Given the description of an element on the screen output the (x, y) to click on. 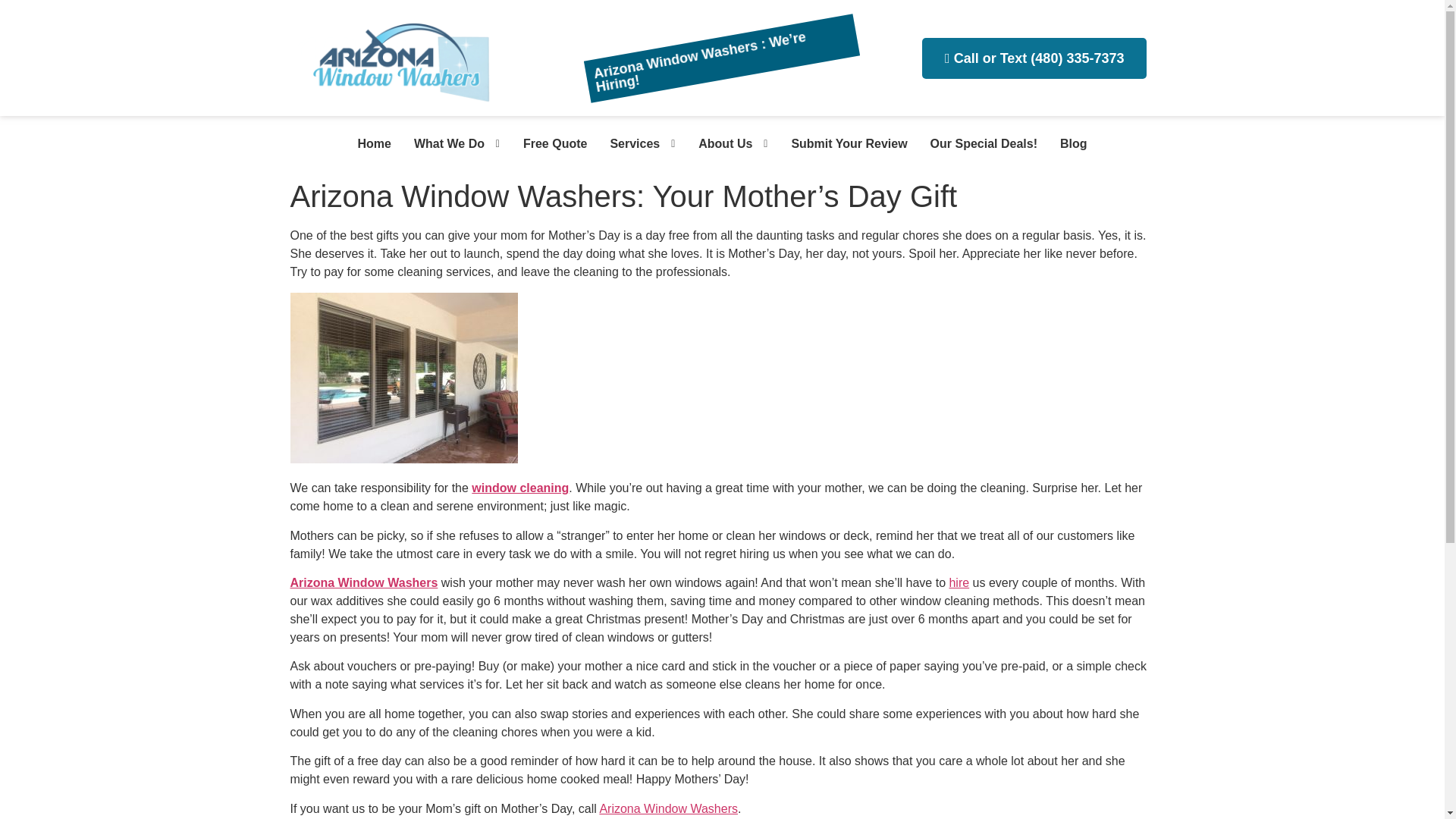
Blog (1067, 143)
Window Cleaning  (549, 143)
Arizona Window Washers (668, 808)
Home (368, 143)
Window Cleaning Service (629, 143)
Please post your review about our services (842, 143)
About Us (720, 143)
Submit Your Review (842, 143)
window cleaning (520, 487)
What We Do (444, 143)
hire (959, 582)
Window Washers Near by (368, 143)
Services (629, 143)
About Arizona Window Washers (720, 143)
